Given the description of an element on the screen output the (x, y) to click on. 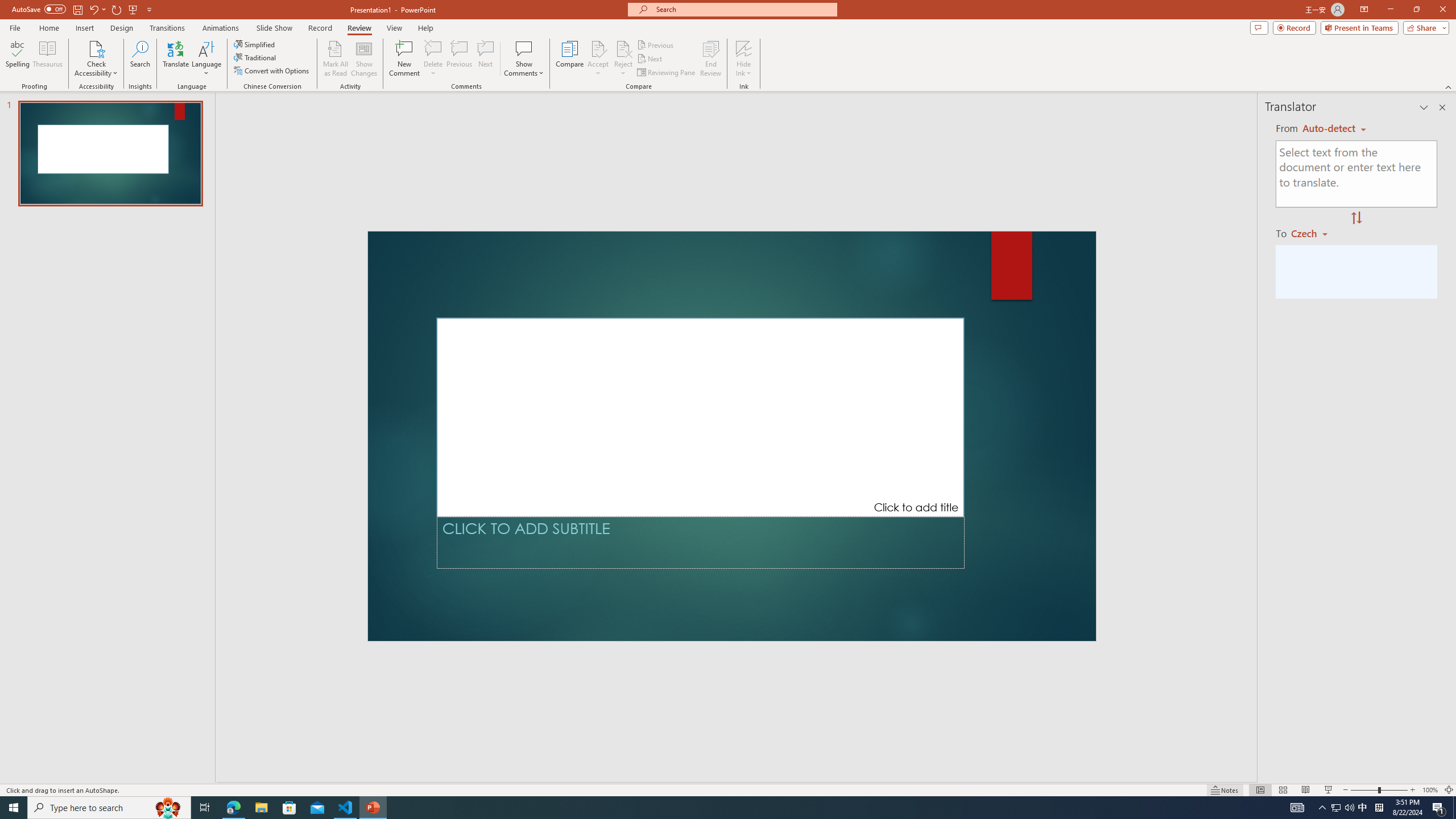
Swap "from" and "to" languages. (1355, 218)
Accept (598, 58)
Previous (655, 44)
Next (649, 58)
Mark All as Read (335, 58)
Traditional (255, 56)
